Given the description of an element on the screen output the (x, y) to click on. 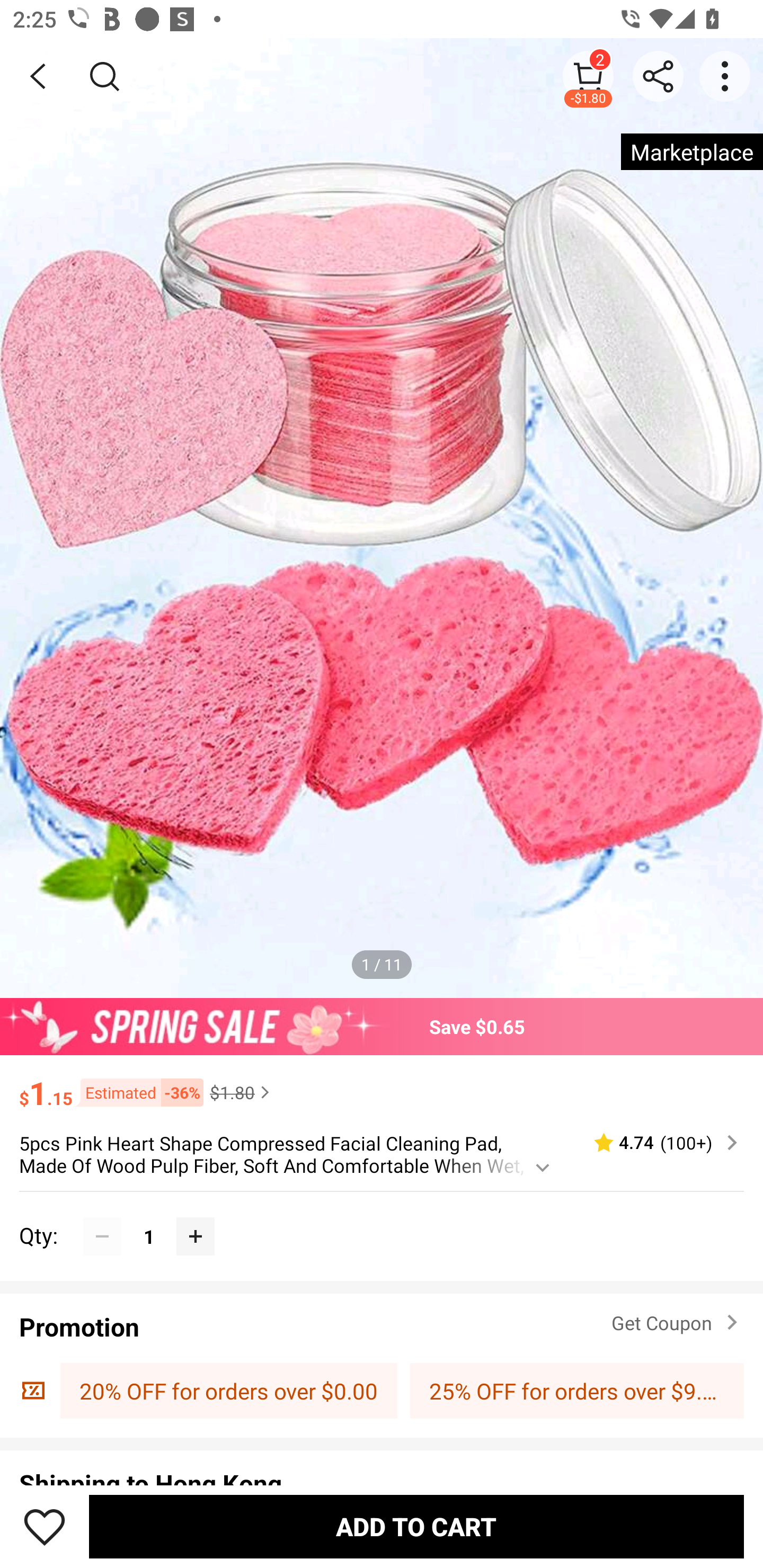
BACK (38, 75)
2 -$1.80 (588, 75)
1 / 11 (381, 964)
Save $0.65 (381, 1026)
$1.15 Estimated -36% $1.80 (381, 1084)
Estimated -36% (137, 1092)
$1.80 (241, 1091)
4.74 (100‎+) (658, 1142)
Qty: 1 (381, 1216)
ADD TO CART (416, 1526)
Save (44, 1526)
